Given the description of an element on the screen output the (x, y) to click on. 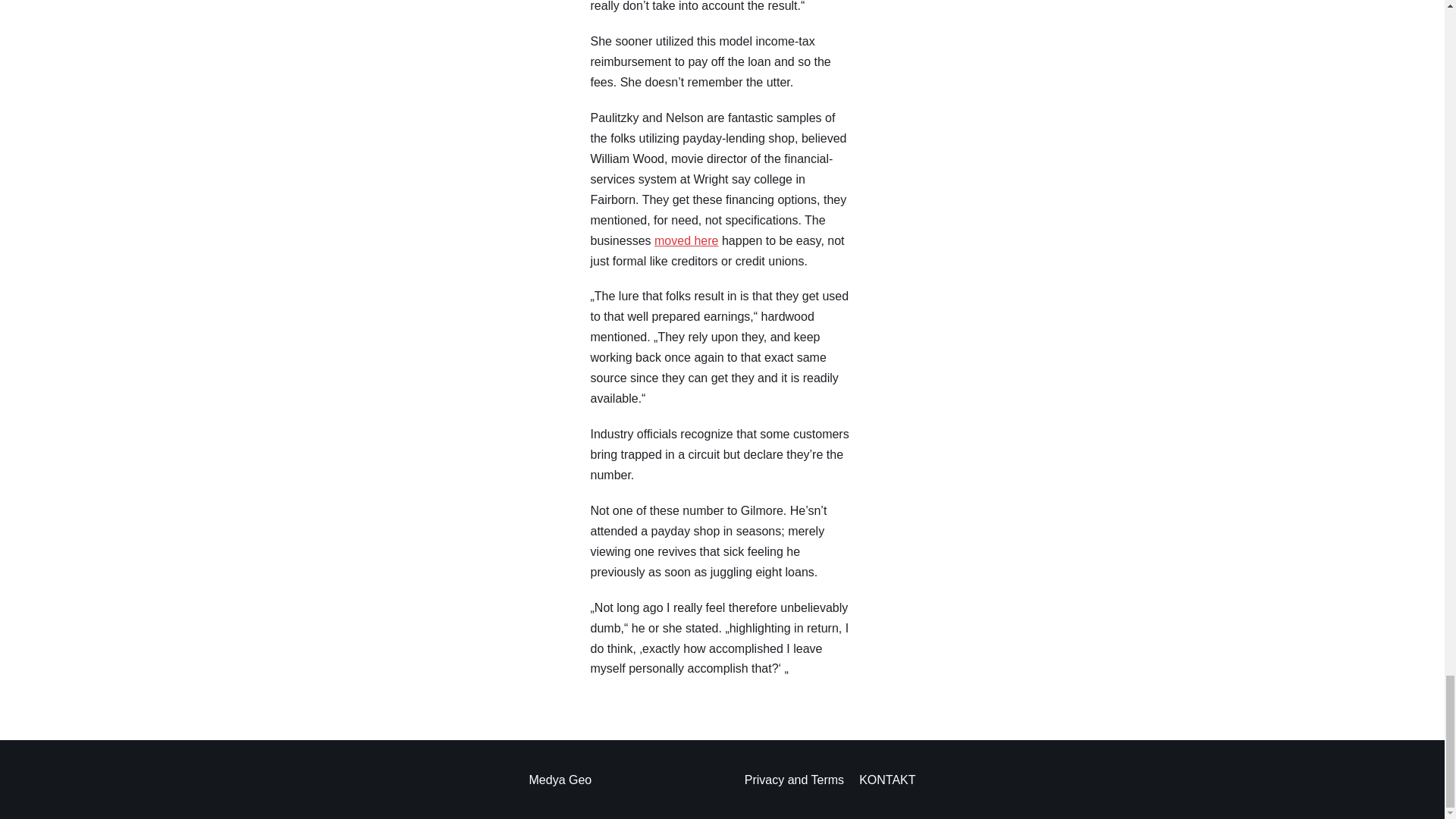
KONTAKT (887, 780)
moved here (686, 240)
Privacy and Terms (794, 780)
